Given the description of an element on the screen output the (x, y) to click on. 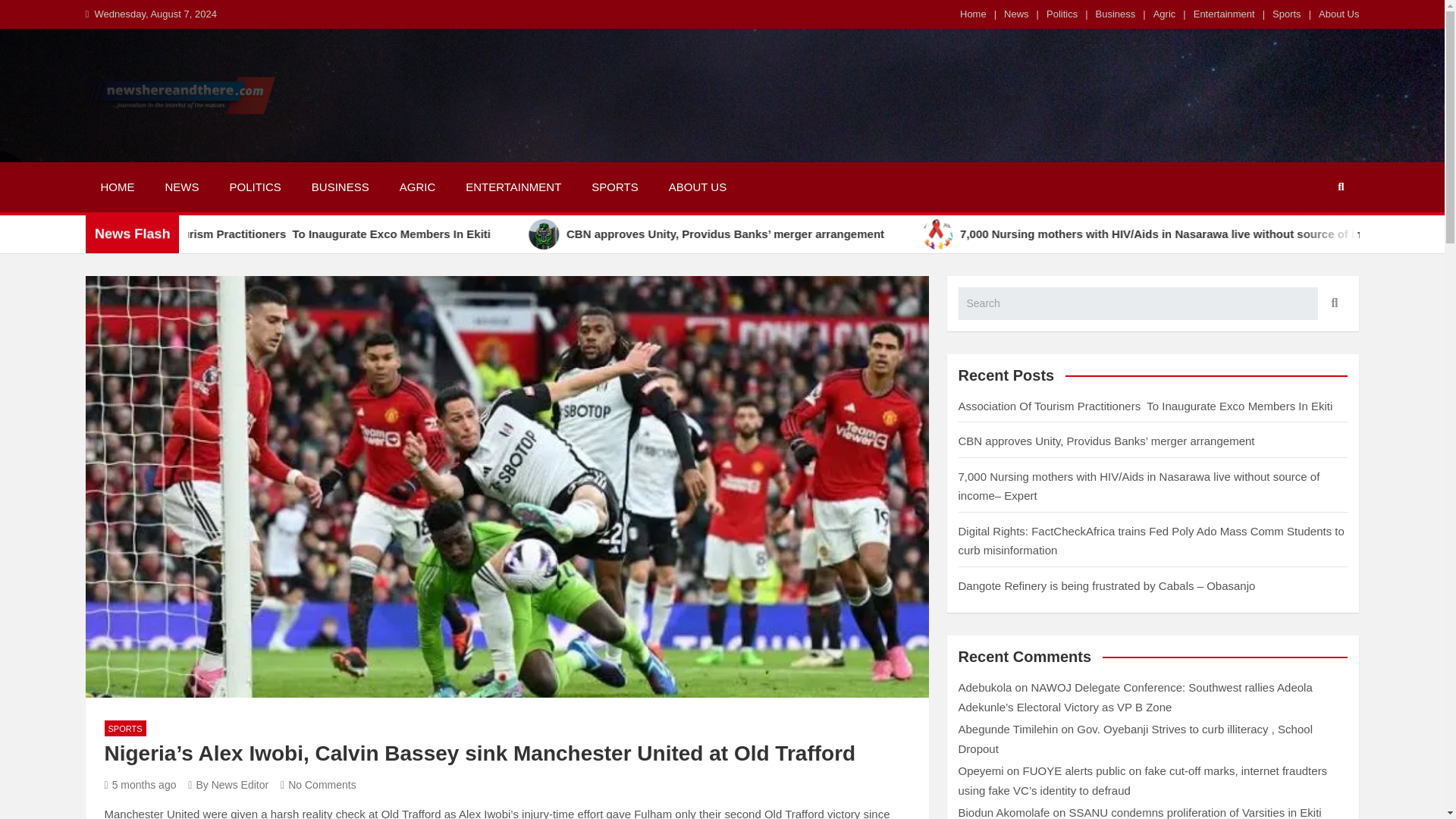
Business (1115, 13)
ABOUT US (697, 187)
News (1016, 13)
BUSINESS (340, 187)
Politics (1061, 13)
No Comments (318, 784)
HOME (116, 187)
Agric (1164, 13)
By News Editor (227, 784)
NEWS (181, 187)
